Given the description of an element on the screen output the (x, y) to click on. 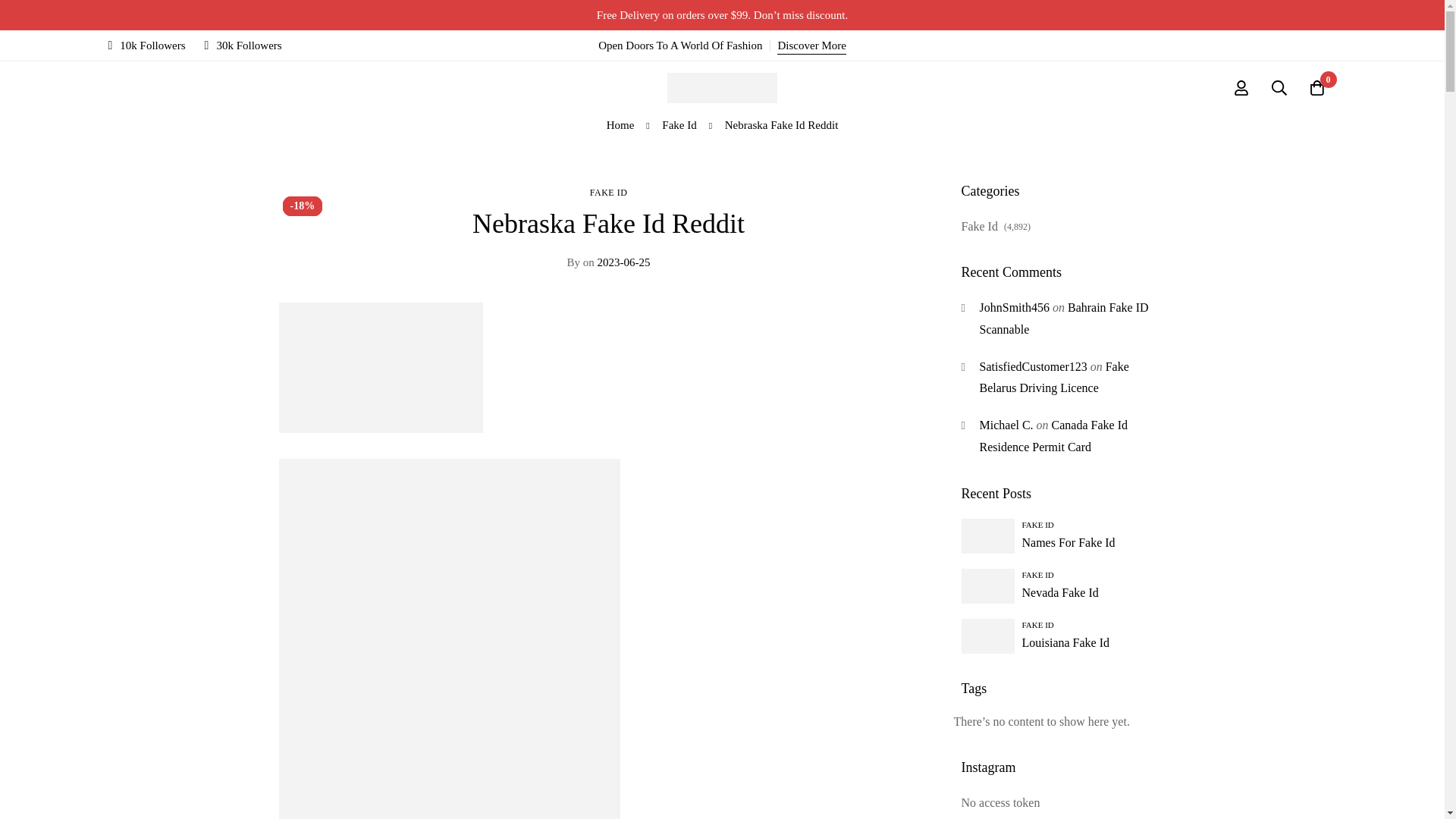
Home (620, 125)
Discover More (811, 45)
Fake Id (678, 125)
0 (1317, 87)
FAKE ID (608, 192)
